Given the description of an element on the screen output the (x, y) to click on. 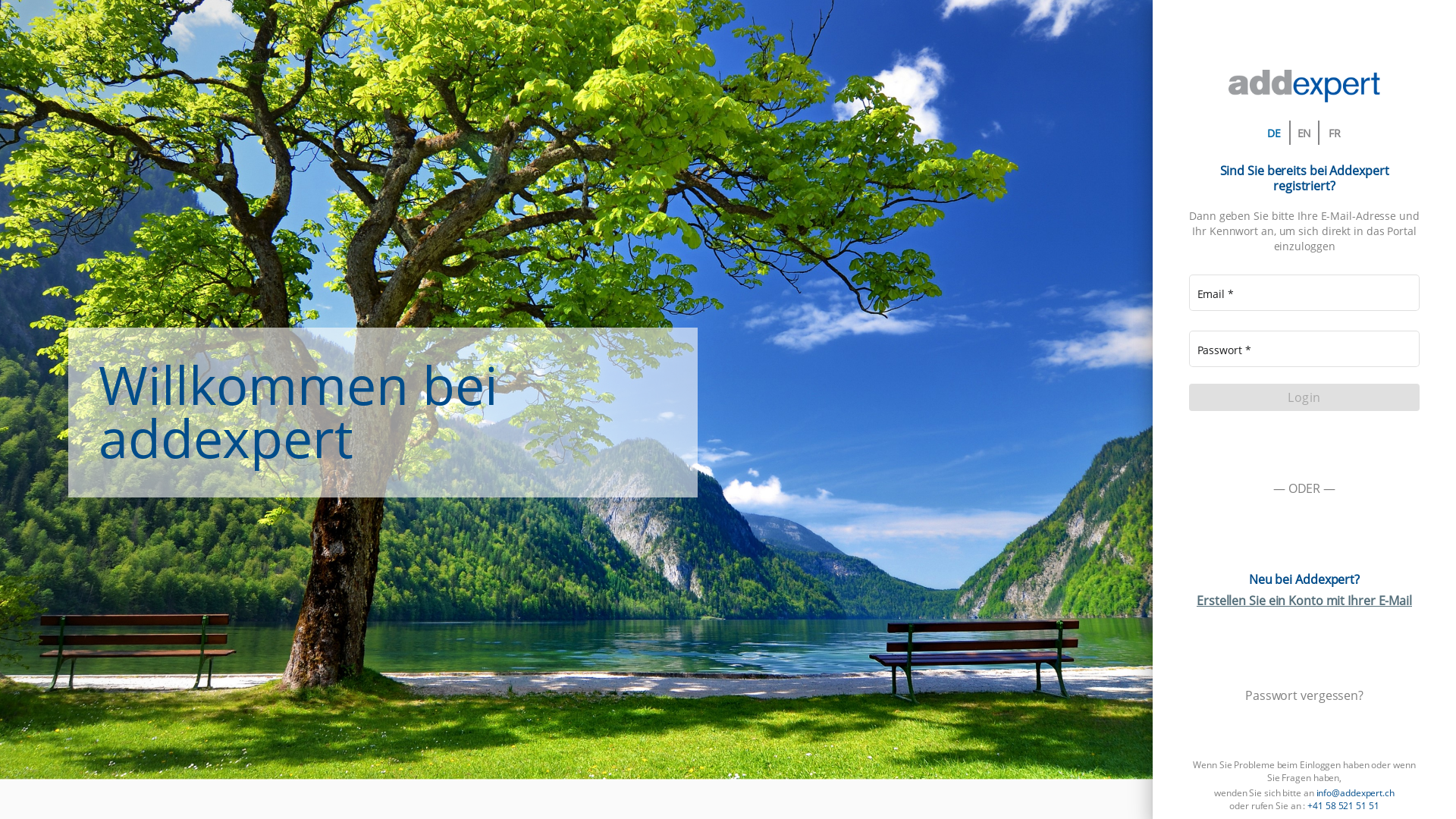
info@addexpert.ch Element type: text (1355, 792)
+41 58 521 51 51 Element type: text (1342, 805)
Login Element type: text (1304, 397)
Passwort vergessen? Element type: text (1304, 695)
Erstellen Sie ein Konto mit Ihrer E-Mail Element type: text (1304, 600)
